Given the description of an element on the screen output the (x, y) to click on. 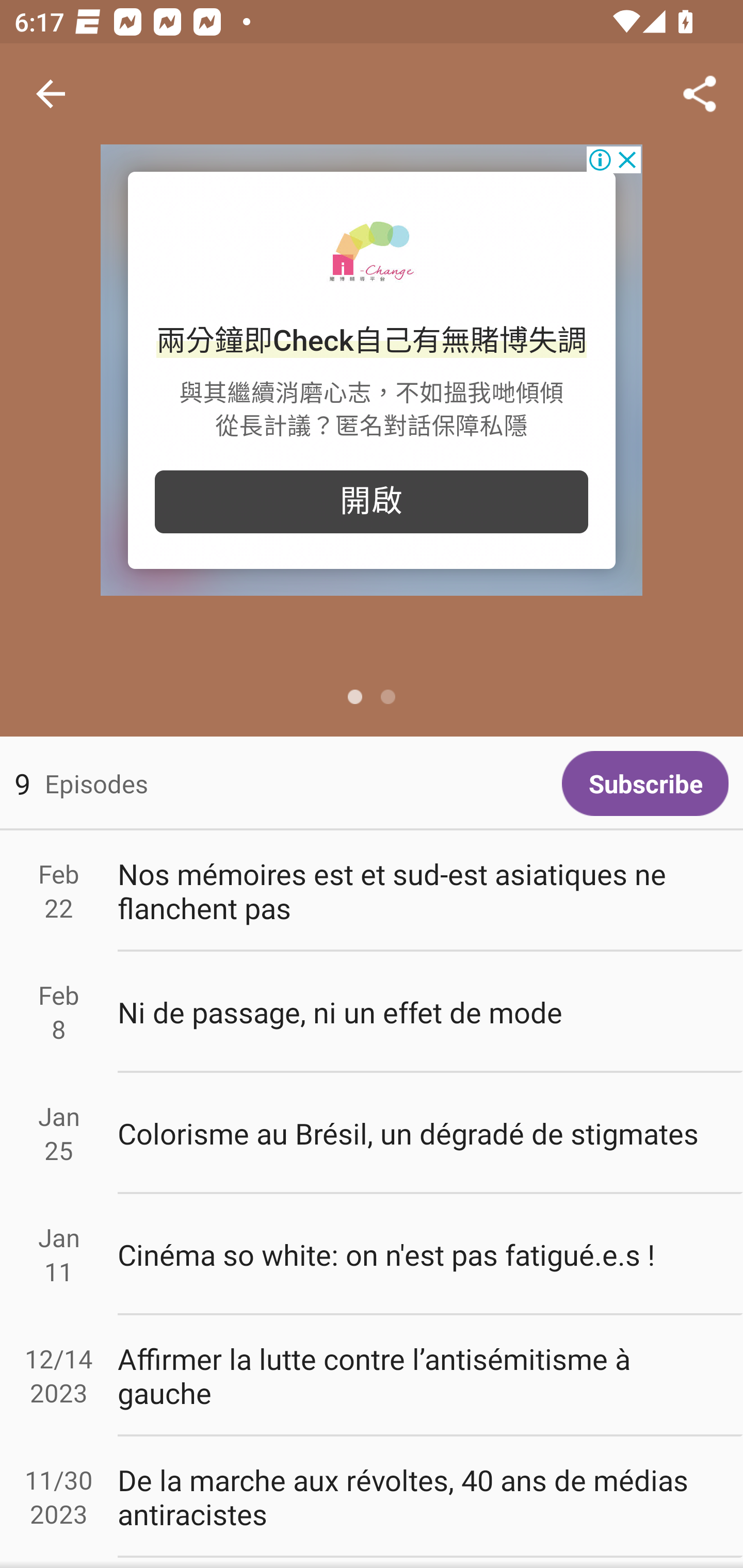
Navigate up (50, 93)
Share... (699, 93)
i-change.elchk.org (371, 251)
兩分鐘即Check自己有無賭博失調 (371, 341)
開啟 (371, 501)
Subscribe (644, 783)
Feb 8 Ni de passage, ni un effet de mode (371, 1011)
Jan 11 Cinéma so white: on n'est pas fatigué.e.s ! (371, 1254)
